Given the description of an element on the screen output the (x, y) to click on. 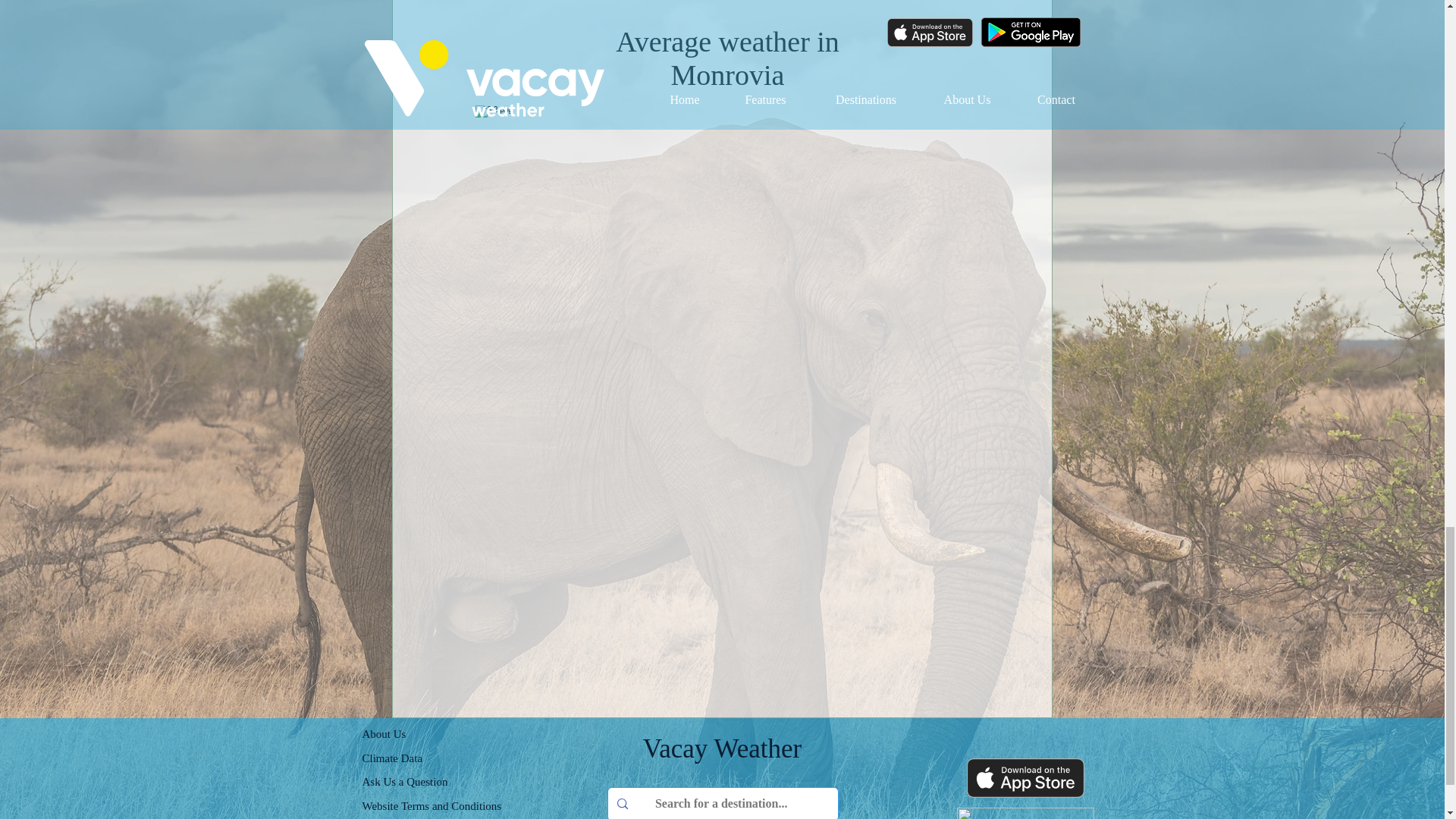
google-play-badge.png (1025, 813)
Ask Us a Question (405, 781)
Climate Data (392, 758)
About Us (384, 734)
Website Terms and Conditions (432, 806)
